Given the description of an element on the screen output the (x, y) to click on. 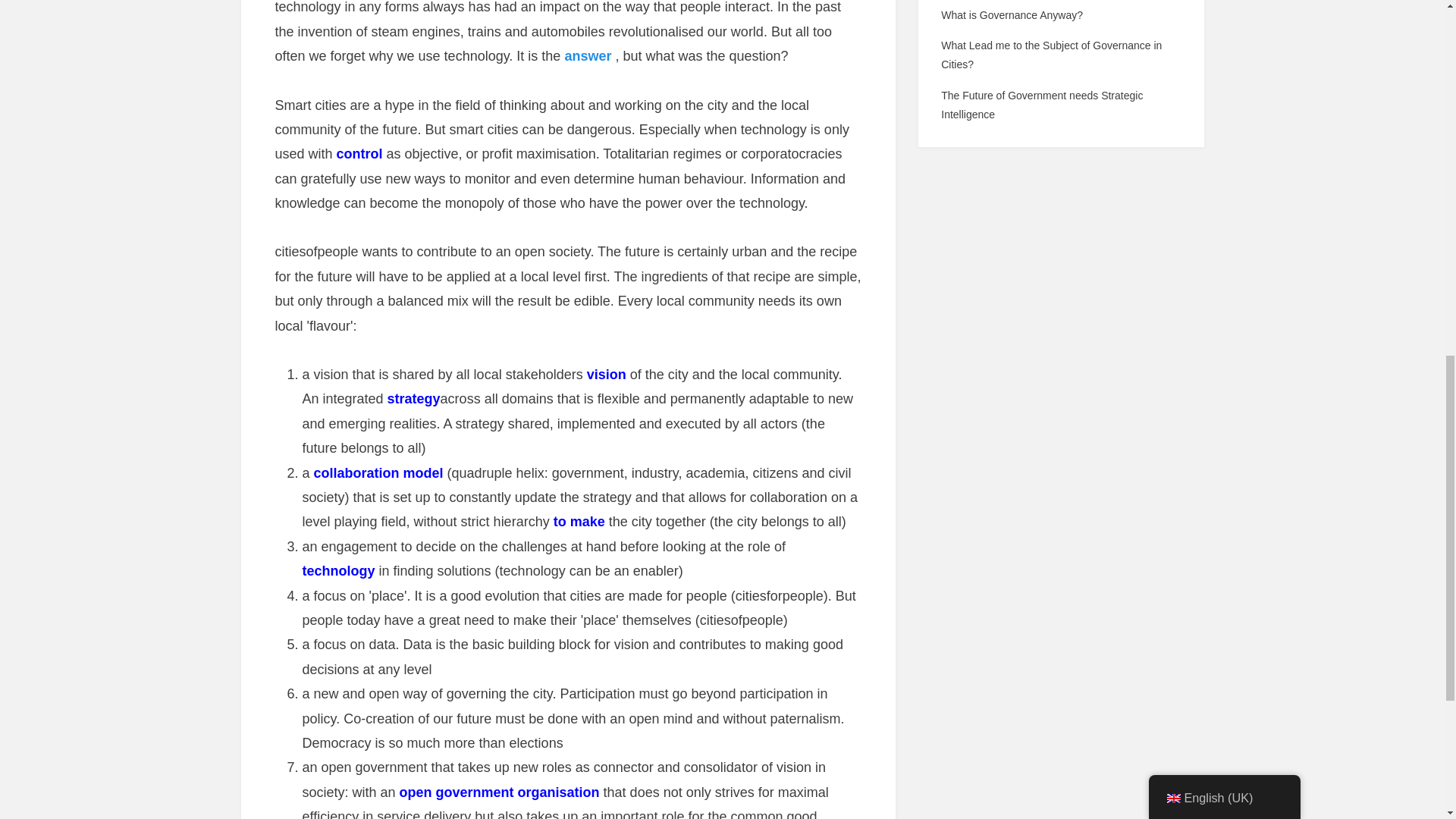
to make (579, 521)
control (359, 153)
answer (587, 55)
technology (337, 570)
open government organisation (498, 792)
collaboration model (379, 473)
vision (606, 374)
strategy (414, 398)
